Given the description of an element on the screen output the (x, y) to click on. 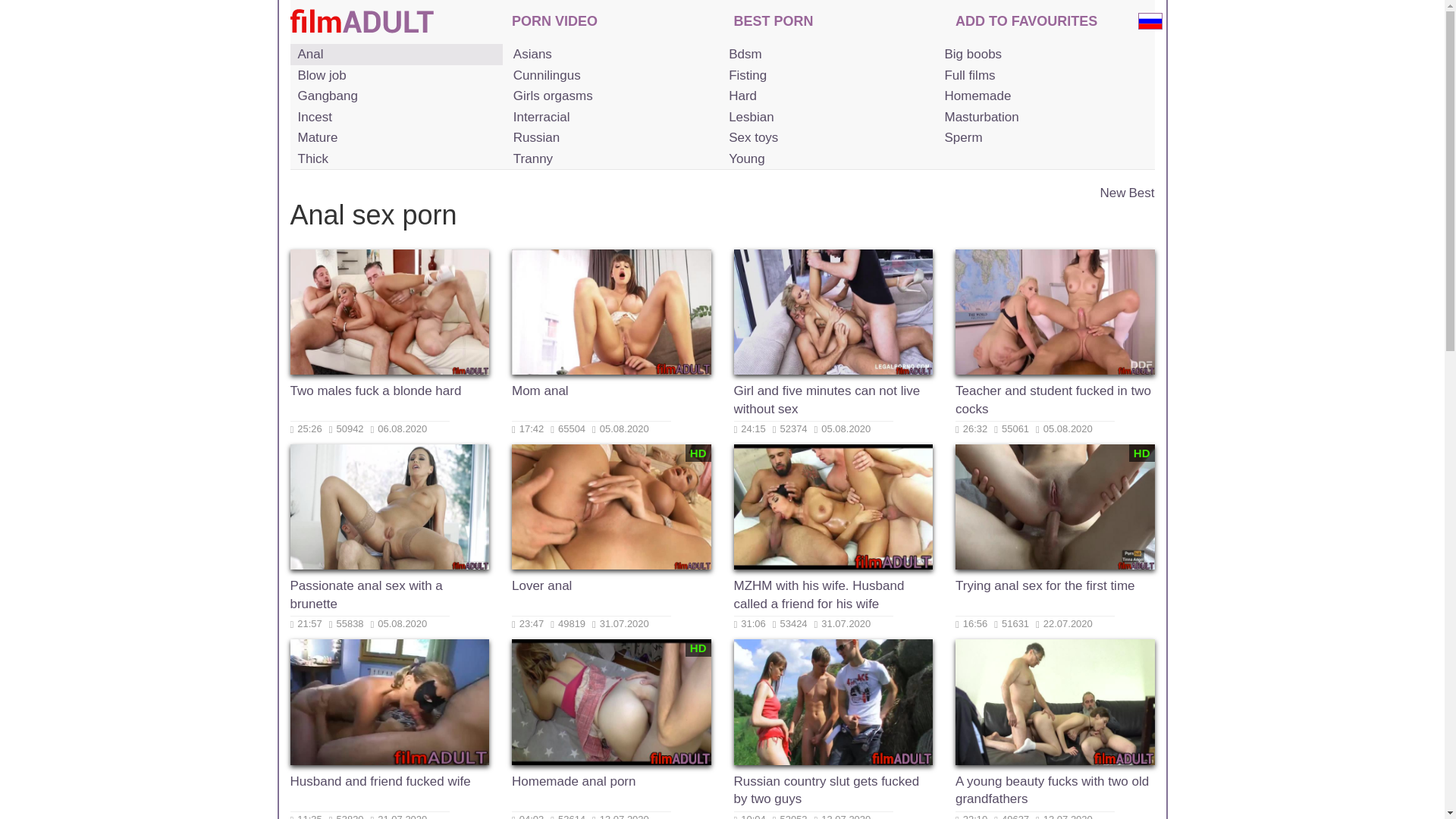
Homemade porn and home videos (1042, 96)
Masturbation (1042, 116)
Fisting (826, 75)
Big boobs (1042, 54)
Bdsm porn videos (826, 54)
Thick (395, 158)
Anal sex porn (395, 54)
Blowjob and oral sex (395, 75)
The best porn videos for free (773, 22)
Teacher and student fucked in two cocks (1054, 401)
Watch porn videos online for free (554, 22)
Interracial (611, 116)
Porn video with girls orgasms (611, 96)
Asian porn (611, 54)
